Given the description of an element on the screen output the (x, y) to click on. 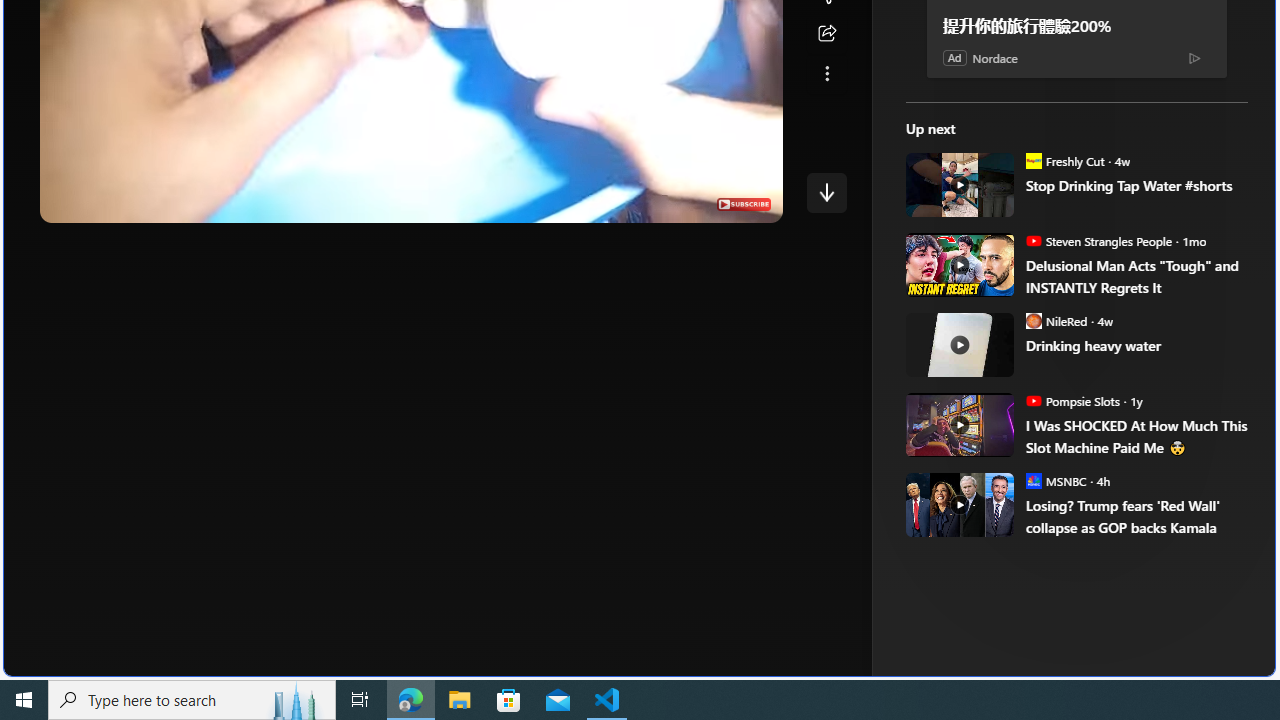
Subtitles/closed captions unavailable (603, 202)
ABC News (974, 12)
Unmute (m) (118, 202)
AutomationID: e5rZOEMGacU1 (826, 192)
Class: control (826, 192)
Ad (954, 57)
Drinking heavy water (1136, 345)
NileRed (1033, 320)
Share this story (826, 33)
See more (826, 74)
